Given the description of an element on the screen output the (x, y) to click on. 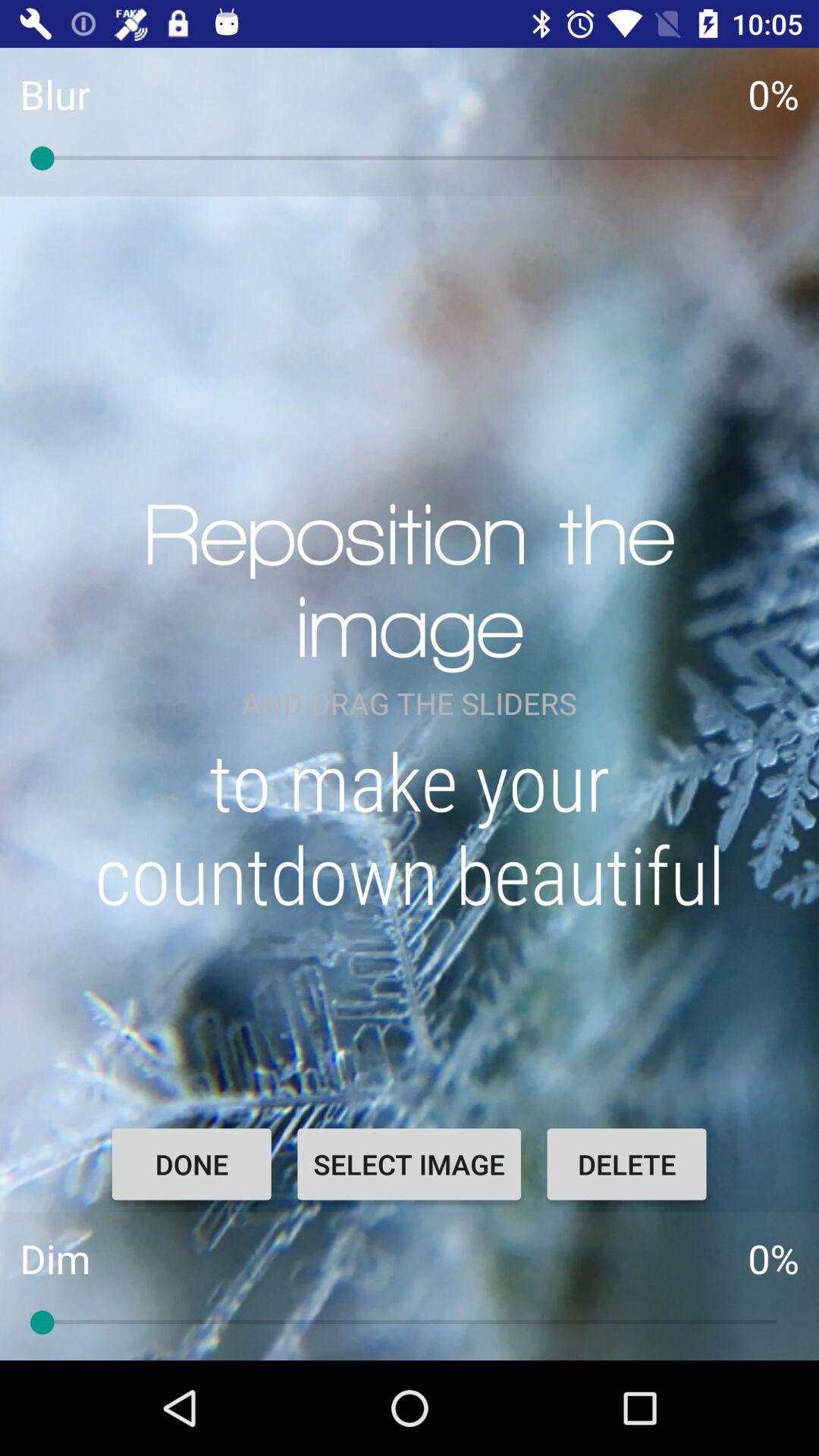
launch icon next to select image (626, 1164)
